Given the description of an element on the screen output the (x, y) to click on. 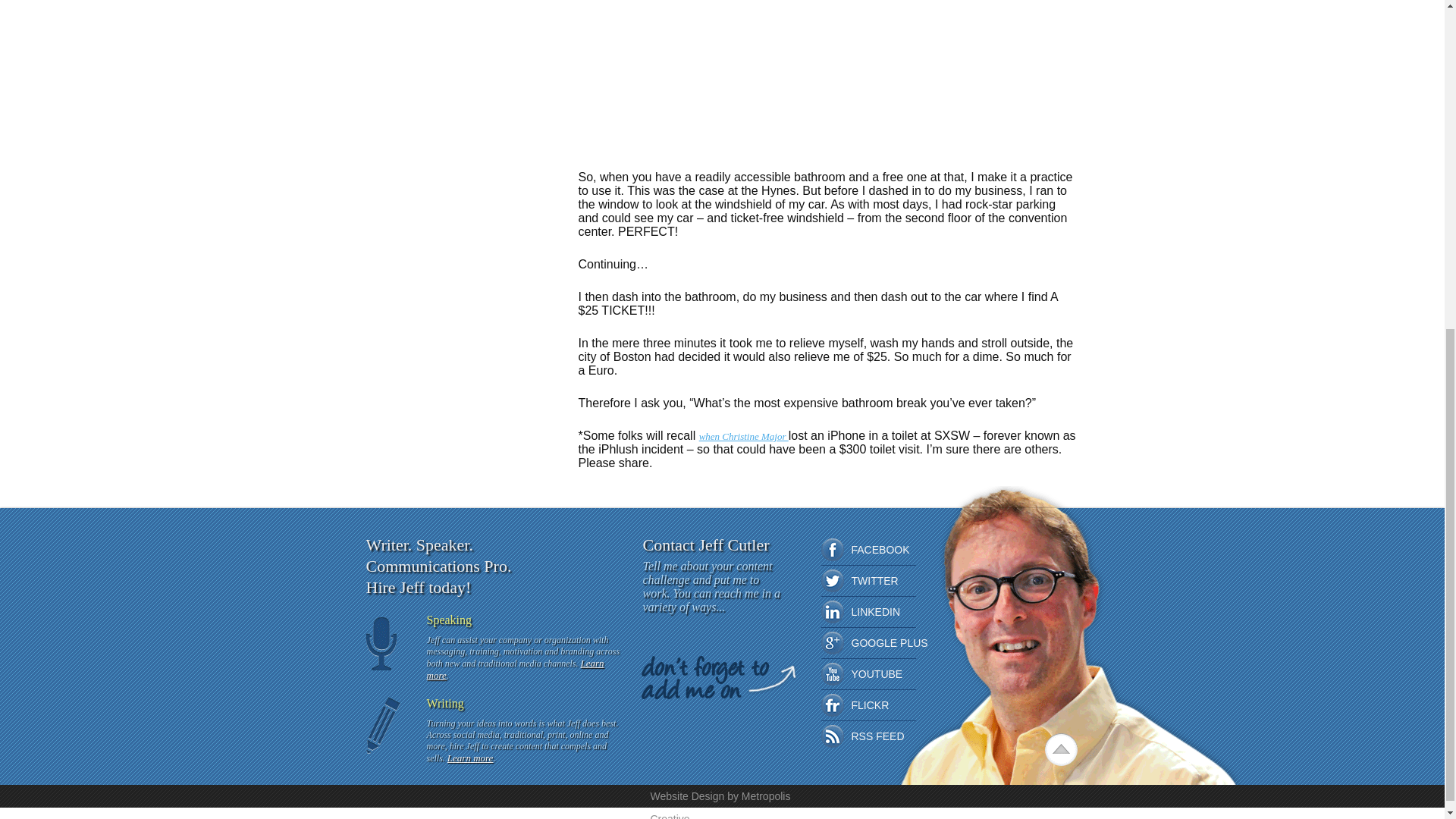
LINKEDIN (832, 611)
Jeff Cutler on Facebook (832, 549)
Jeff Cutler on Twitter (832, 580)
Learn more (515, 668)
Learn more (469, 757)
Jeff Cutler on LinkedIn (832, 611)
Picture 1 (647, 75)
Jeff Cutler on Google Plus (832, 642)
when Christine Major (743, 436)
FACEBOOK (832, 549)
Jeff Cutler RSS Feed (832, 735)
YOUTUBE (832, 673)
FLICKR (832, 704)
RSS FEED (832, 735)
Jeff Cutler on YouTube (832, 673)
